Given the description of an element on the screen output the (x, y) to click on. 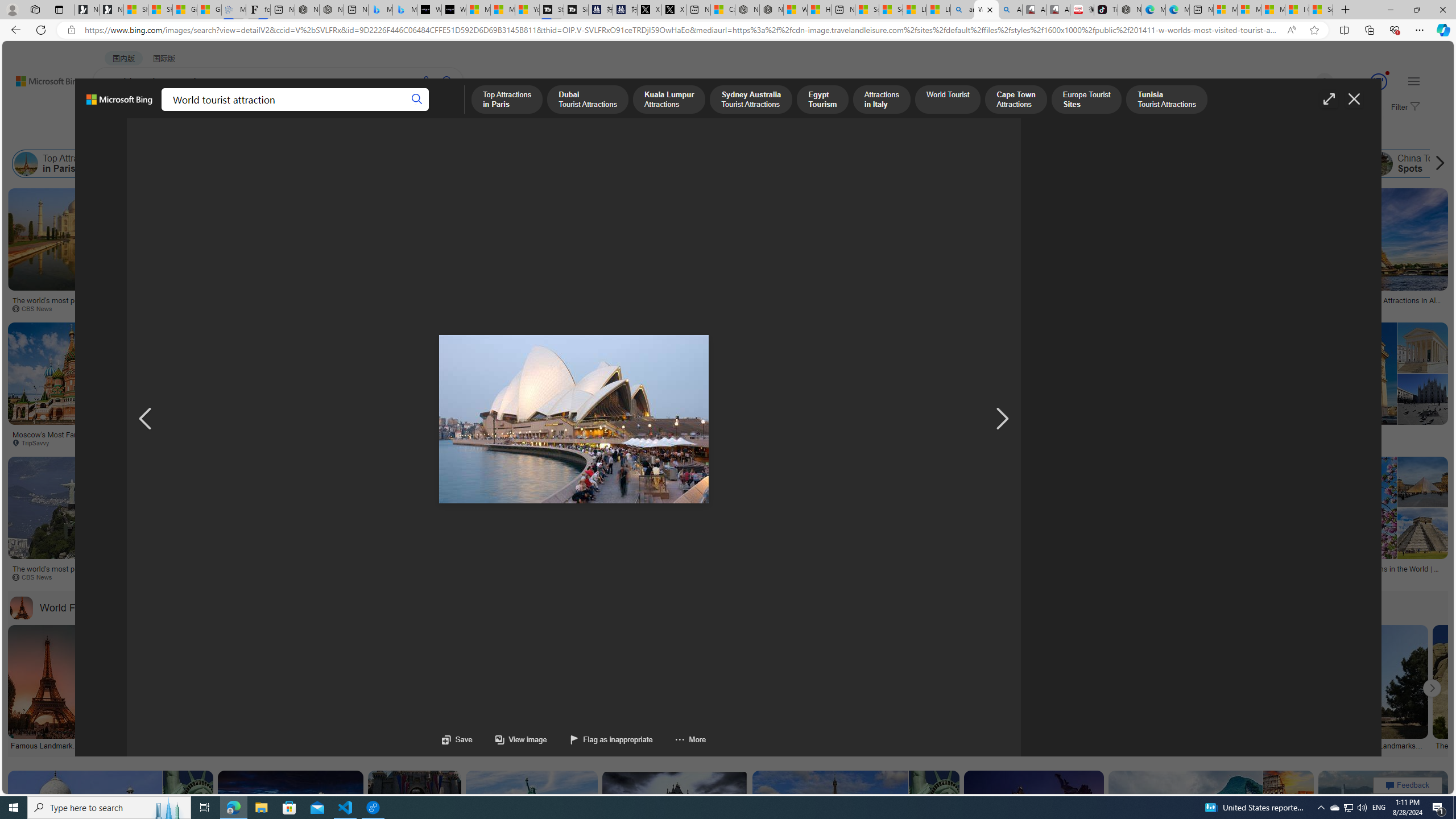
15 Monumental famous landmarks around the world - DCT Travel (162, 744)
Address and search bar (680, 29)
Dubai Tourist Attractions (132, 163)
Canada's Best Attractions and Destinations (573, 568)
Date (336, 135)
journeyz.co (313, 308)
travelandleisure.com (1151, 576)
Nordace - #1 Japanese Best-Seller - Siena Smart Backpack (330, 9)
